Given the description of an element on the screen output the (x, y) to click on. 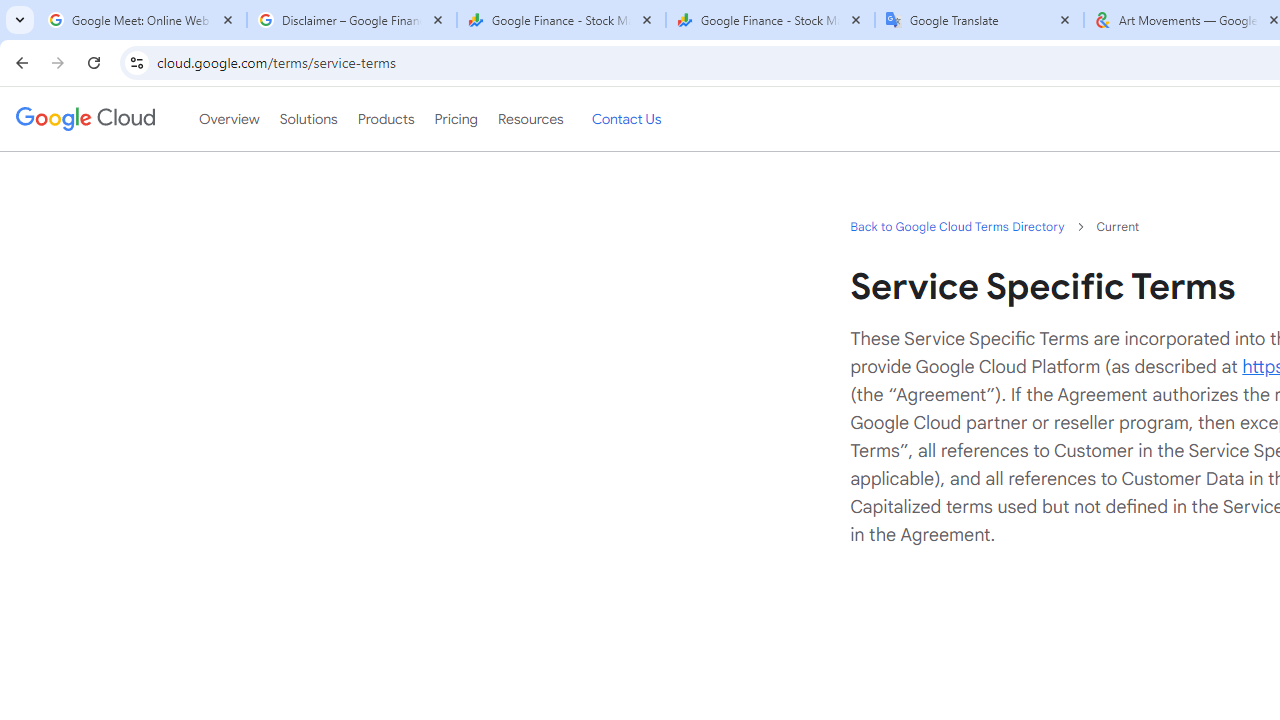
Back to Google Cloud Terms Directory (956, 226)
Resources (530, 119)
Solutions (308, 119)
